Given the description of an element on the screen output the (x, y) to click on. 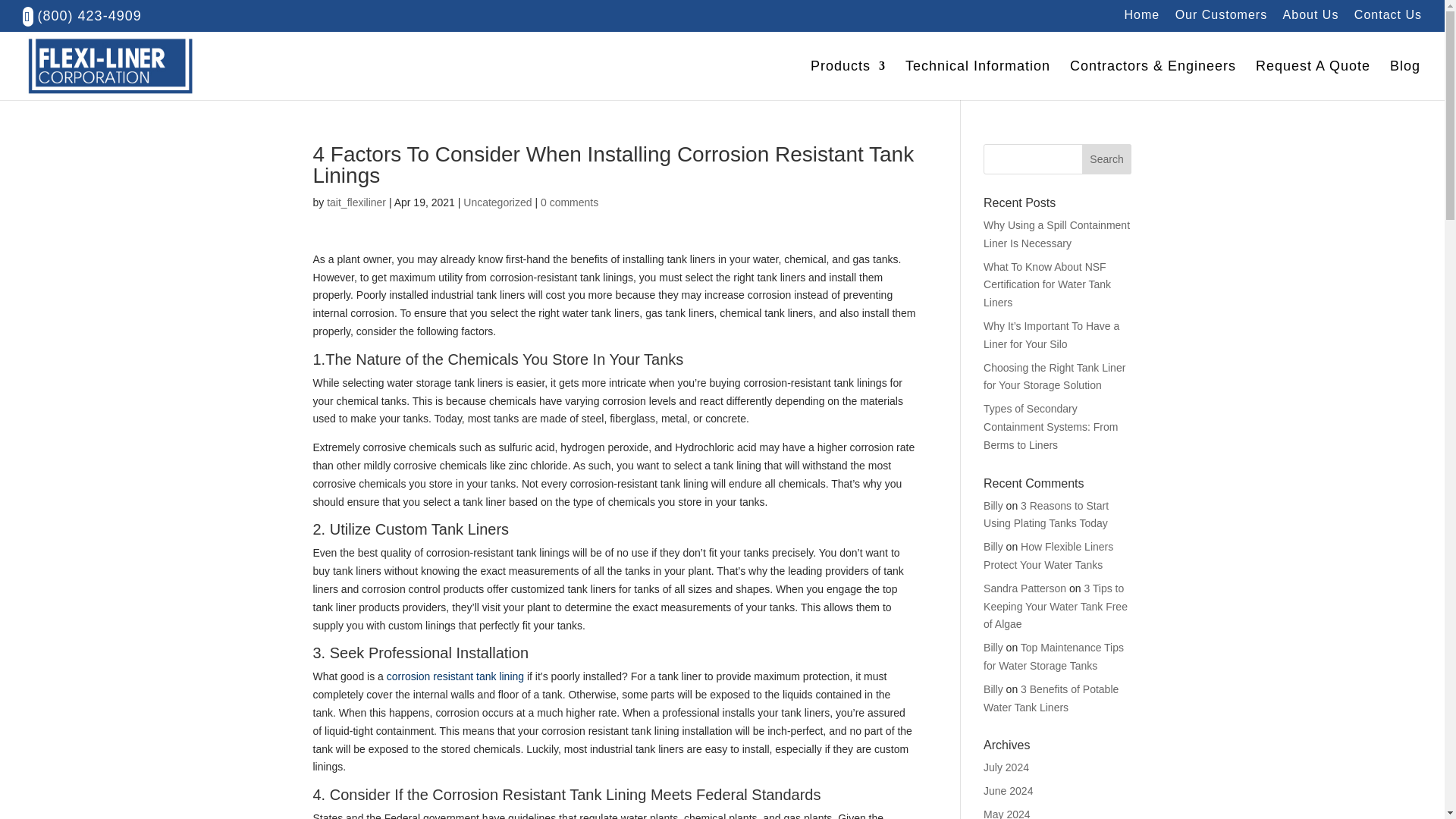
About Us (1310, 19)
Contact Us (1388, 19)
Request A Quote (1312, 79)
Products (847, 79)
Blog (1405, 79)
Our Customers (1220, 19)
Home (1142, 19)
Search (1106, 159)
Technical Information (977, 79)
